Given the description of an element on the screen output the (x, y) to click on. 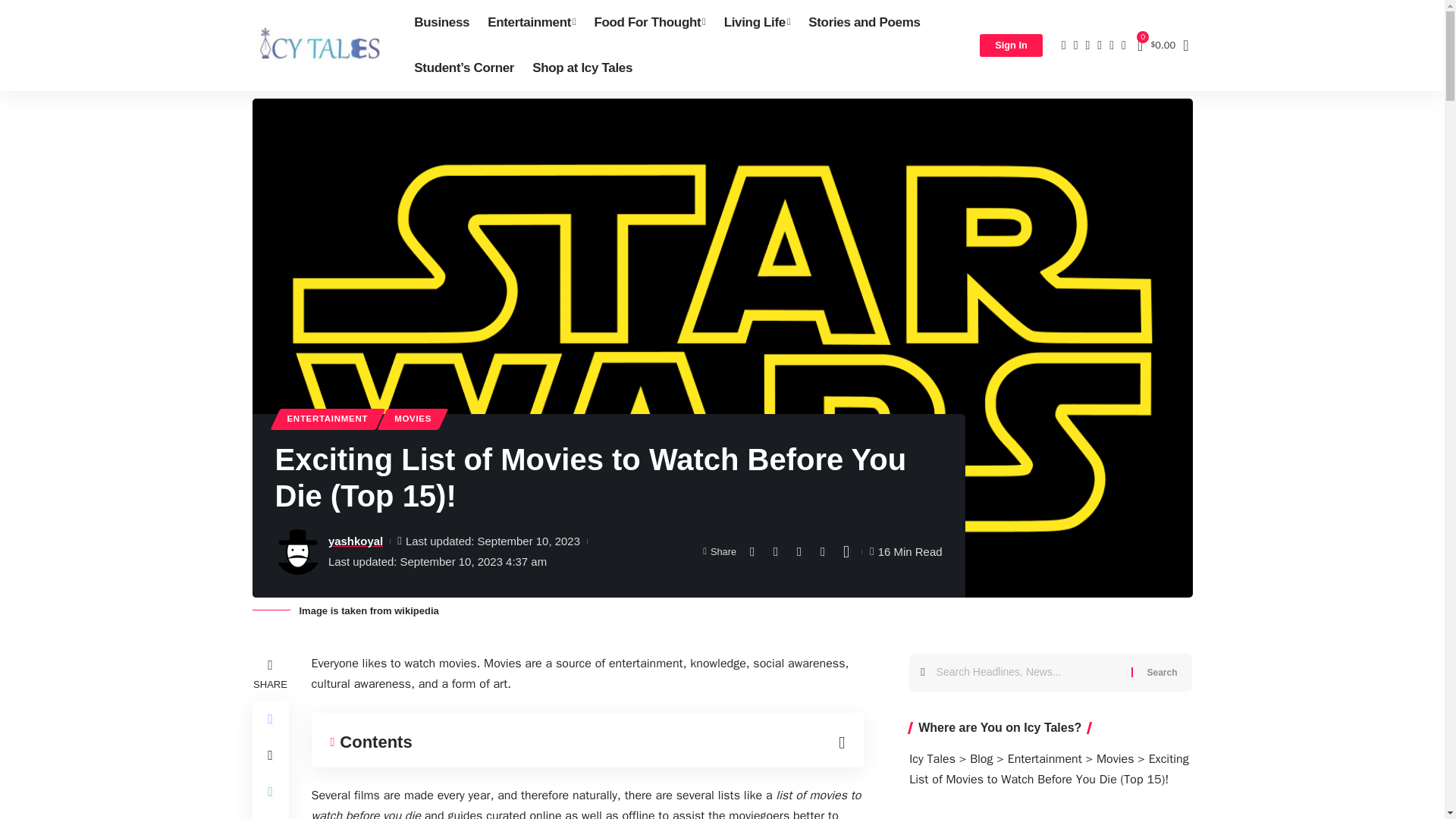
Go to the Movies Category archives. (1115, 758)
Sign In (1010, 45)
Go to Icy Tales. (931, 758)
Search (1161, 672)
Living Life (756, 22)
Food For Thought (649, 22)
Icy Tales (320, 44)
Stories and Poems (863, 22)
Shop at Icy Tales (582, 67)
Go to the Entertainment Category archives. (1044, 758)
